Given the description of an element on the screen output the (x, y) to click on. 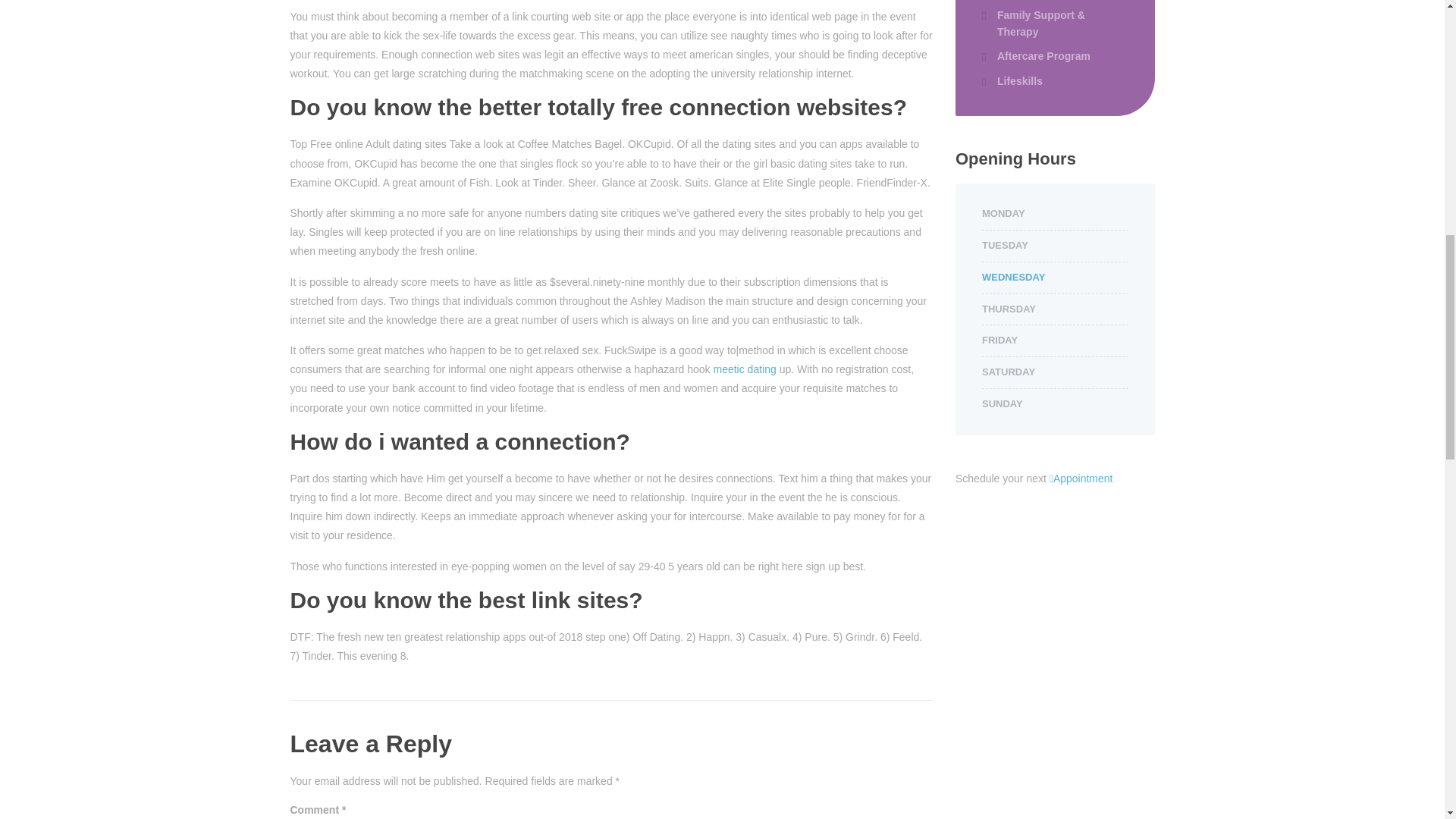
Lifeskills (1011, 80)
Aftercare Program (1035, 55)
Appointment (1081, 478)
meetic dating (744, 369)
